Given the description of an element on the screen output the (x, y) to click on. 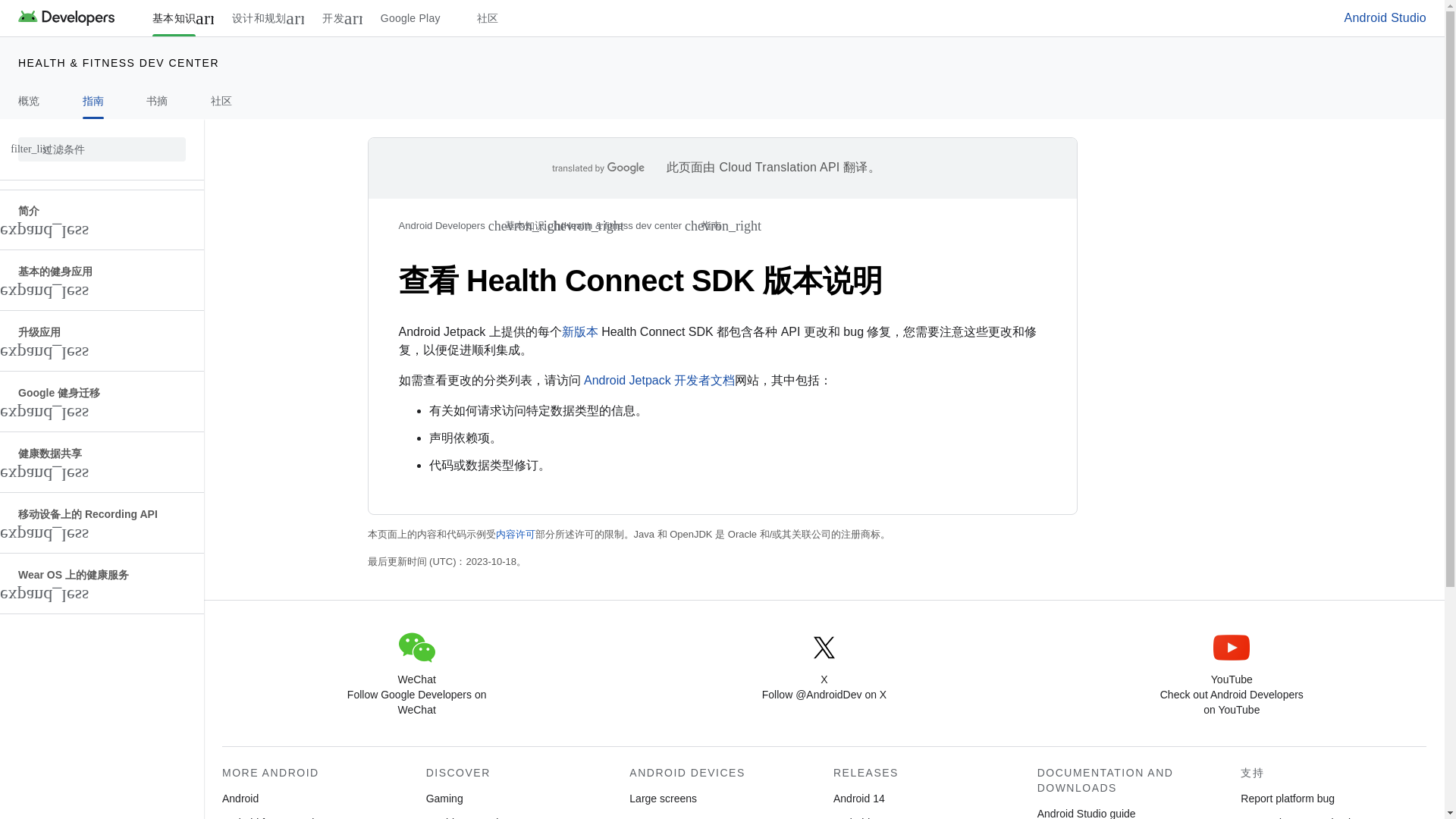
Android Studio (1385, 17)
Google Play (410, 18)
